Given the description of an element on the screen output the (x, y) to click on. 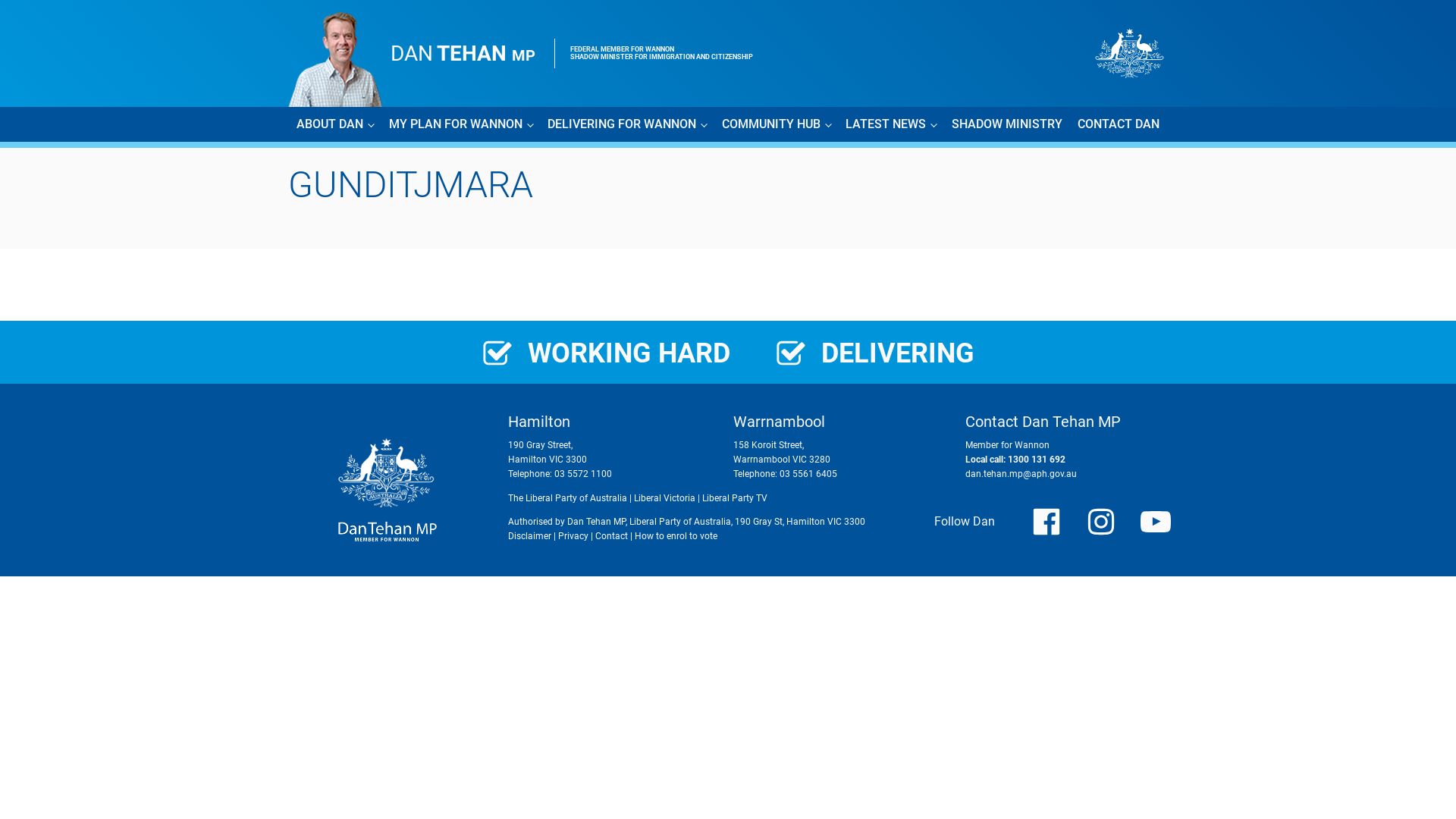
Liberal Victoria Element type: text (664, 497)
SHADOW MINISTRY Element type: text (1006, 124)
MY PLAN FOR WANNON Element type: text (461, 124)
CONTACT DAN Element type: text (1118, 124)
COMMUNITY HUB Element type: text (776, 124)
DAN TEHAN MP Element type: text (462, 52)
How to enrol to vote Element type: text (675, 535)
Contact Element type: text (611, 535)
Privacy Element type: text (573, 535)
LATEST NEWS Element type: text (890, 124)
The Liberal Party of Australia Element type: text (567, 497)
ABOUT DAN Element type: text (334, 124)
Disclaimer Element type: text (529, 535)
Liberal Party TV Element type: text (734, 497)
DELIVERING FOR WANNON Element type: text (626, 124)
